Given the description of an element on the screen output the (x, y) to click on. 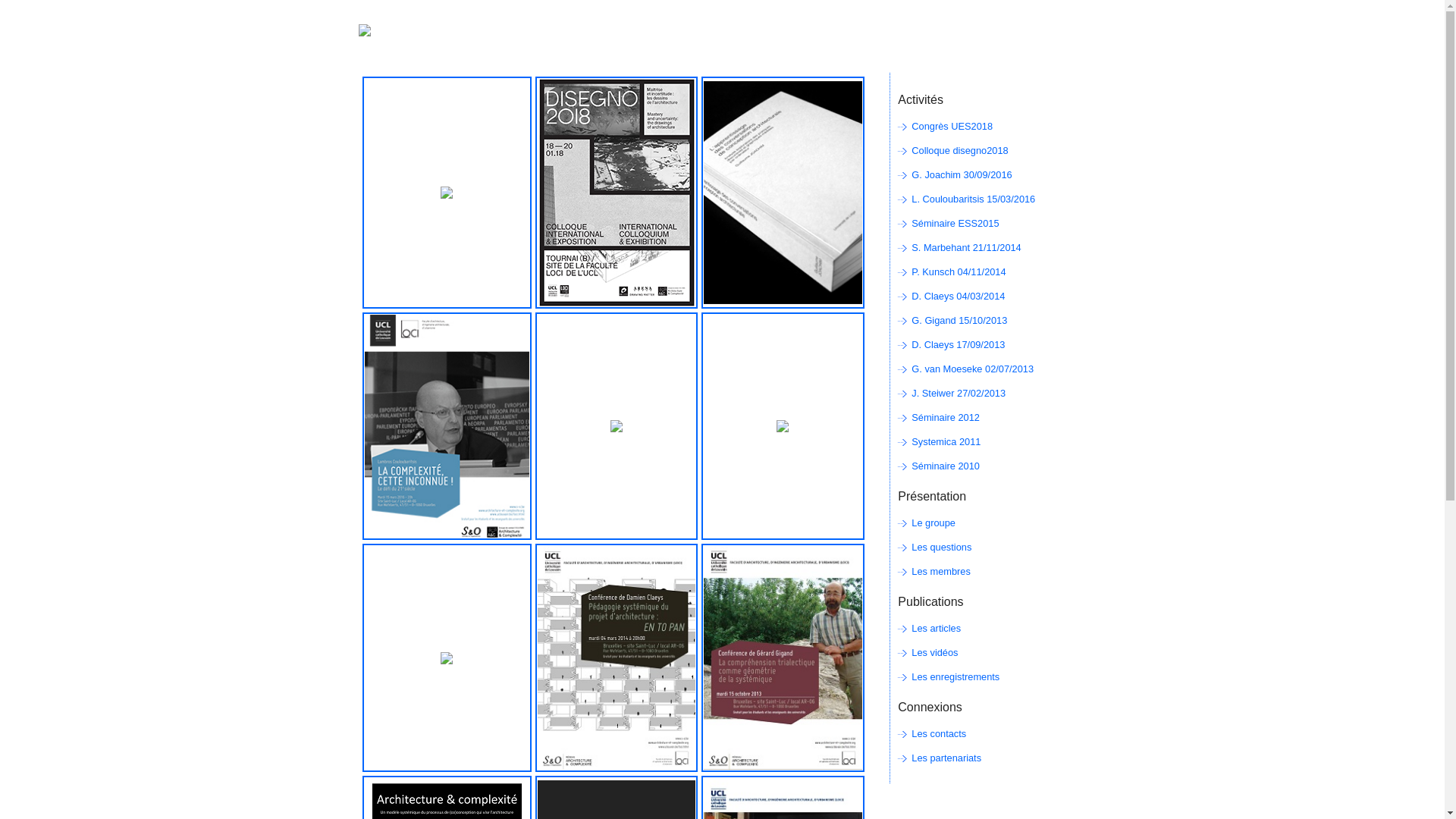
L. Couloubaritsis 15/03/2016 Element type: text (973, 198)
D. Claeys 17/09/2013 Element type: text (957, 344)
Les partenariats Element type: text (946, 757)
Les enregistrements Element type: text (955, 676)
Les contacts Element type: text (938, 733)
G. van Moeseke 02/07/2013 Element type: text (972, 368)
P. Kunsch 04/11/2014 Element type: text (958, 271)
Les membres Element type: text (940, 571)
Les articles Element type: text (935, 627)
G. Joachim 30/09/2016 Element type: text (961, 174)
G. Gigand 15/10/2013 Element type: text (959, 320)
S. Marbehant 21/11/2014 Element type: text (965, 247)
Le groupe Element type: text (933, 522)
J. Steiwer 27/02/2013 Element type: text (958, 392)
Colloque disegno2018 Element type: text (959, 150)
D. Claeys 04/03/2014 Element type: text (957, 295)
Les questions Element type: text (941, 546)
Systemica 2011 Element type: text (945, 441)
